Given the description of an element on the screen output the (x, y) to click on. 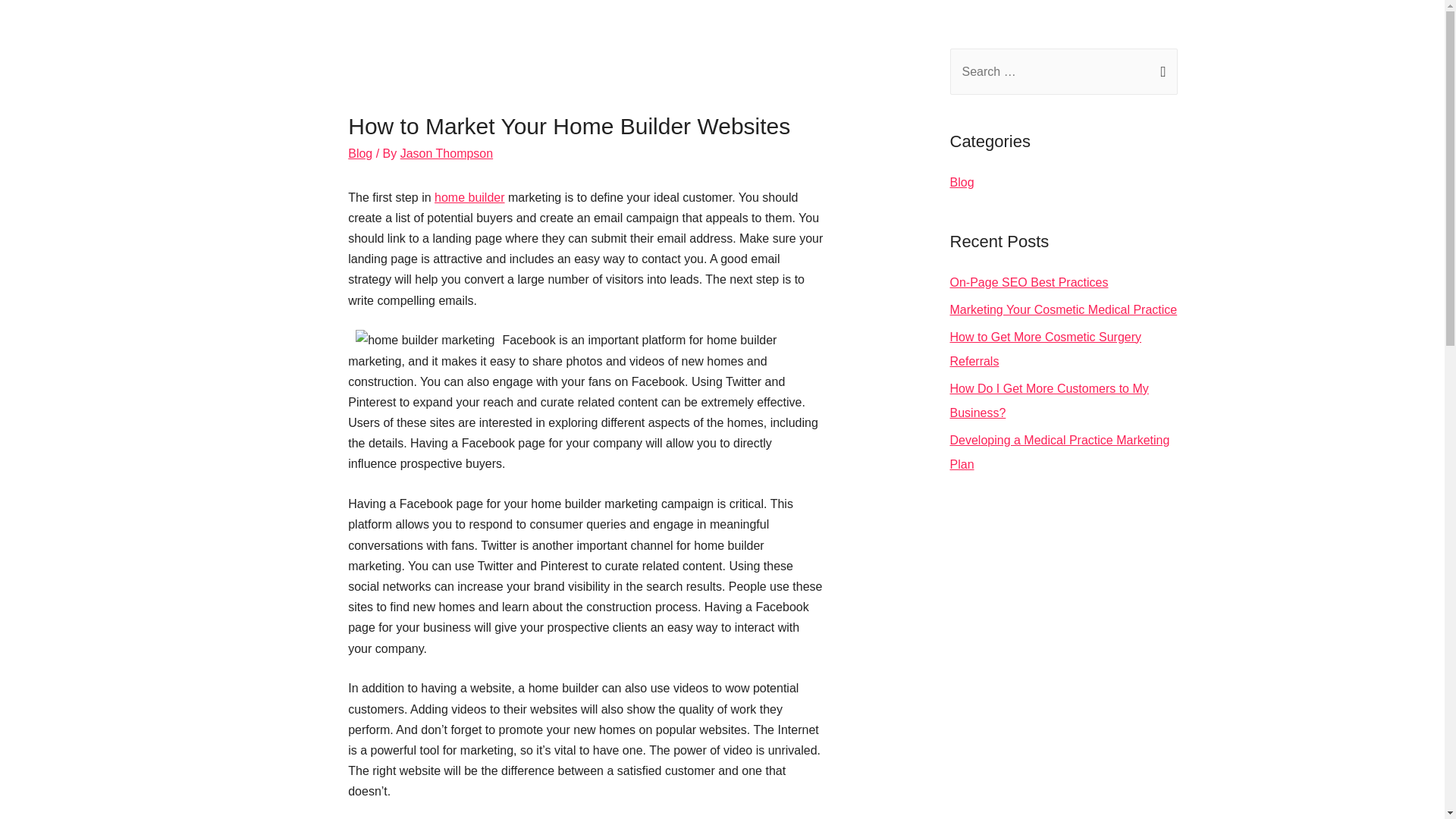
View all posts by Jason Thompson (446, 153)
Search (1159, 64)
Jason Thompson (446, 153)
Developing a Medical Practice Marketing Plan (1059, 452)
How to Get More Cosmetic Surgery Referrals (1045, 348)
How Do I Get More Customers to My Business? (1048, 400)
Blog (359, 153)
Marketing Your Cosmetic Medical Practice (1062, 309)
Search (1159, 64)
Search (1159, 64)
